Given the description of an element on the screen output the (x, y) to click on. 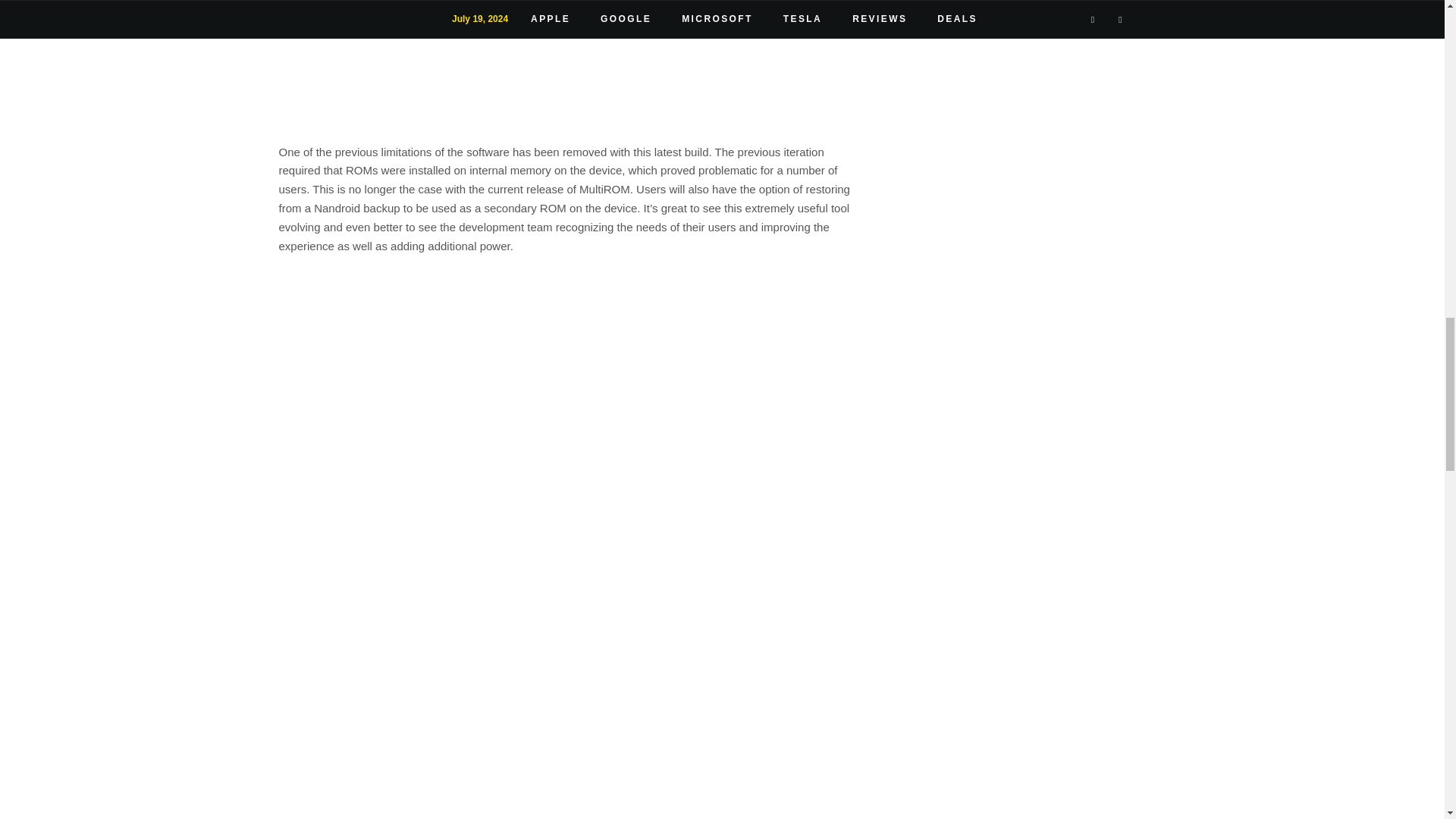
Capture6 (569, 65)
